Given the description of an element on the screen output the (x, y) to click on. 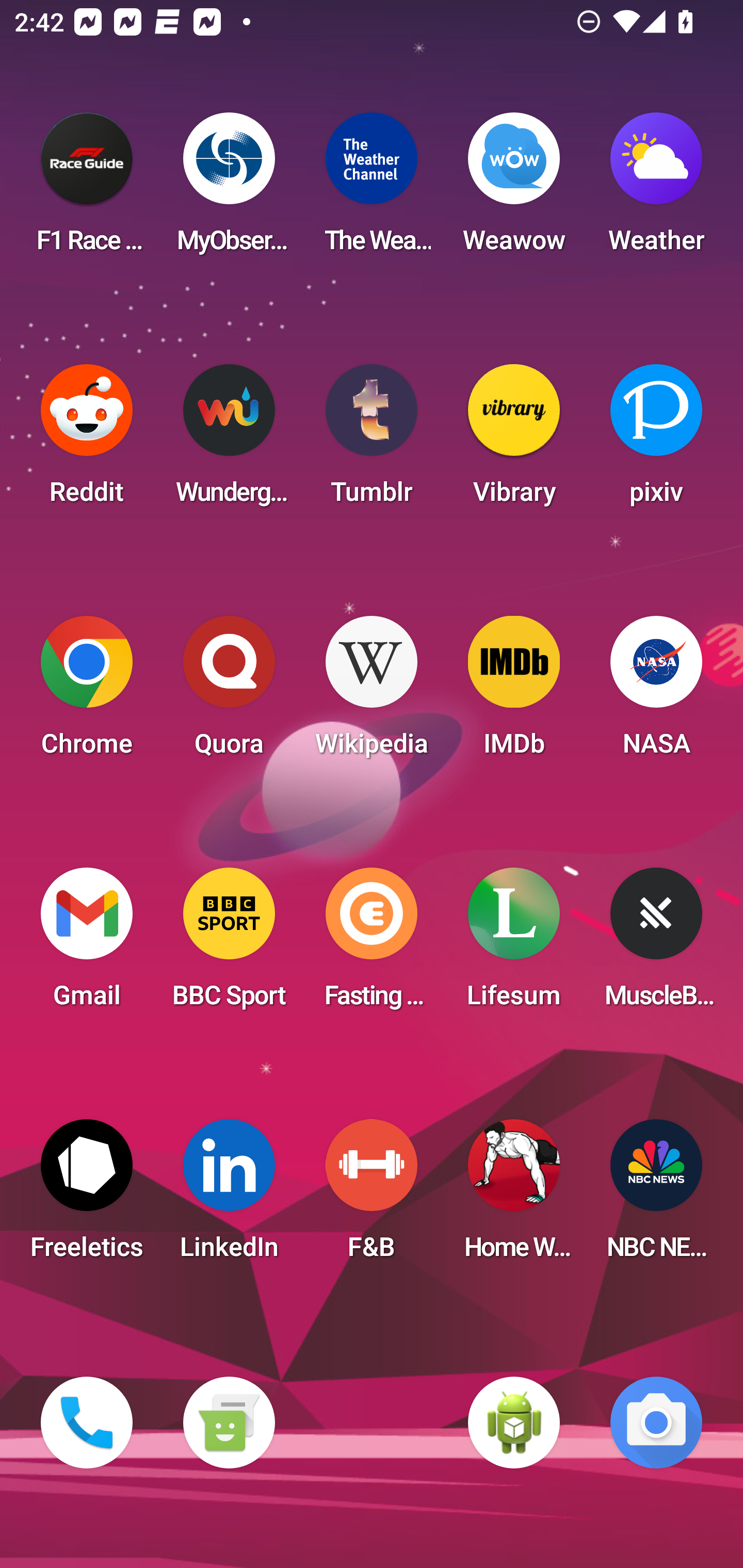
F1 Race Guide (86, 188)
MyObservatory (228, 188)
The Weather Channel (371, 188)
Weawow (513, 188)
Weather (656, 188)
Reddit (86, 440)
Wunderground (228, 440)
Tumblr (371, 440)
Vibrary (513, 440)
pixiv (656, 440)
Chrome (86, 692)
Quora (228, 692)
Wikipedia (371, 692)
IMDb (513, 692)
NASA (656, 692)
Gmail (86, 943)
BBC Sport (228, 943)
Fasting Coach (371, 943)
Lifesum (513, 943)
MuscleBooster (656, 943)
Freeletics (86, 1195)
LinkedIn (228, 1195)
F&B (371, 1195)
Home Workout (513, 1195)
NBC NEWS (656, 1195)
Phone (86, 1422)
Messaging (228, 1422)
WebView Browser Tester (513, 1422)
Camera (656, 1422)
